Given the description of an element on the screen output the (x, y) to click on. 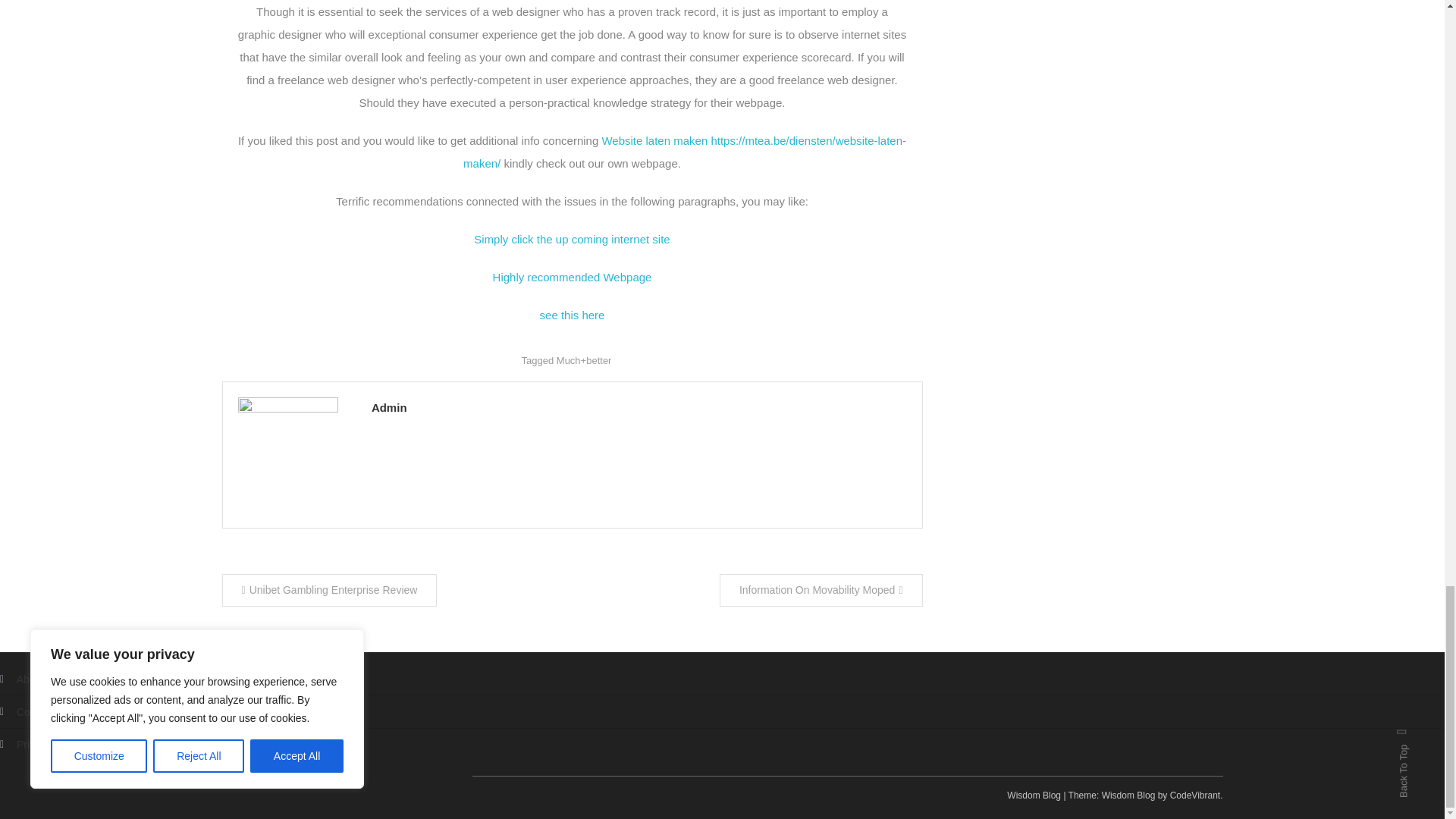
Simply click the up coming internet site (571, 238)
see this here (572, 314)
Highly recommended Webpage (572, 277)
Information On Movability Moped (821, 590)
Admin (639, 407)
Unibet Gambling Enterprise Review (328, 590)
